Given the description of an element on the screen output the (x, y) to click on. 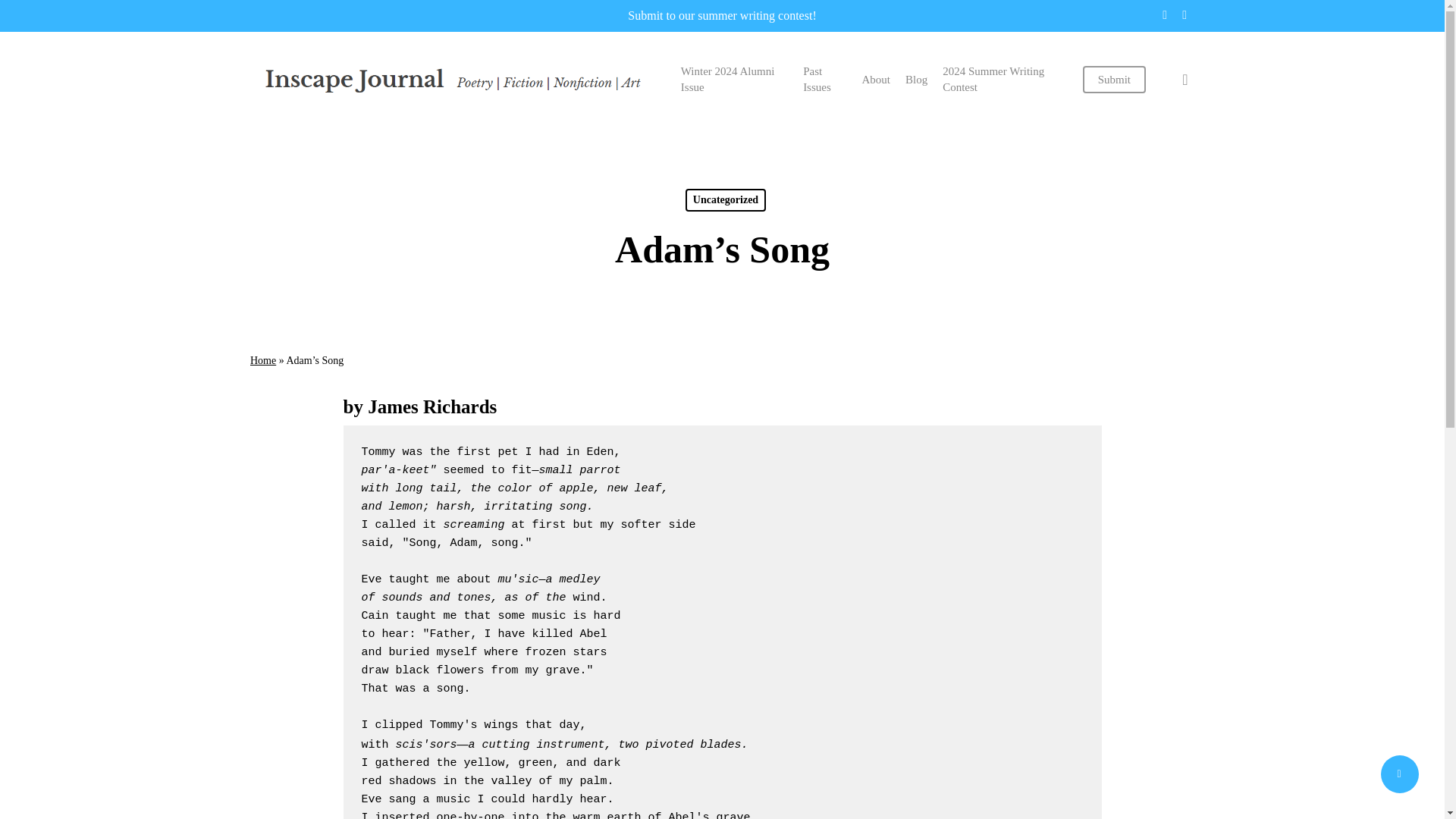
Submit to our summer writing contest! (721, 15)
Blog (916, 78)
Uncategorized (725, 200)
Winter 2024 Alumni Issue (734, 79)
2024 Summer Writing Contest (1004, 79)
Home (263, 360)
search (1184, 78)
Submit (1114, 78)
Past Issues (824, 79)
About (875, 78)
